Given the description of an element on the screen output the (x, y) to click on. 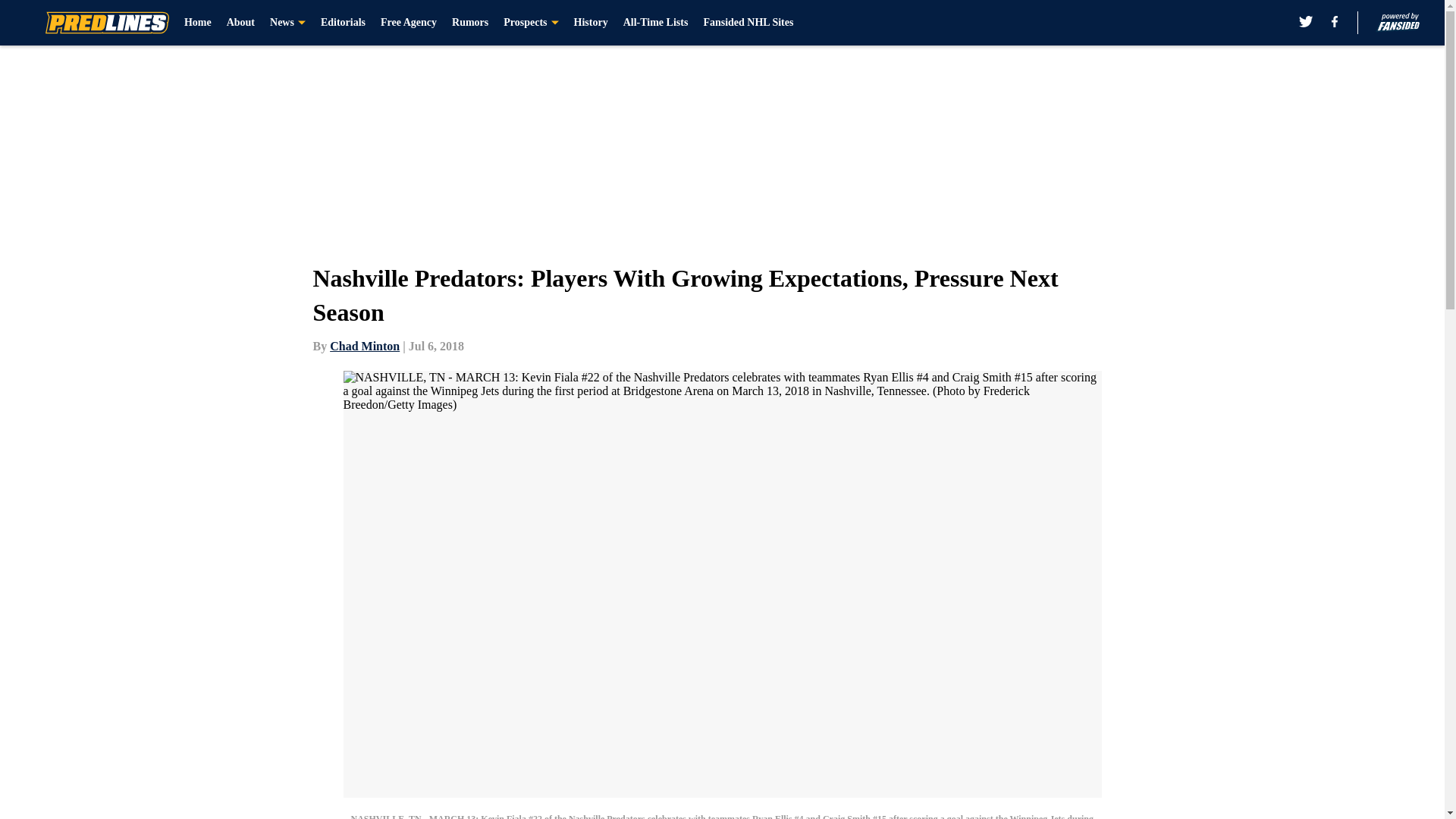
Home (197, 22)
Editorials (342, 22)
All-Time Lists (655, 22)
About (240, 22)
Free Agency (408, 22)
Chad Minton (364, 345)
Rumors (469, 22)
History (590, 22)
Fansided NHL Sites (748, 22)
